Given the description of an element on the screen output the (x, y) to click on. 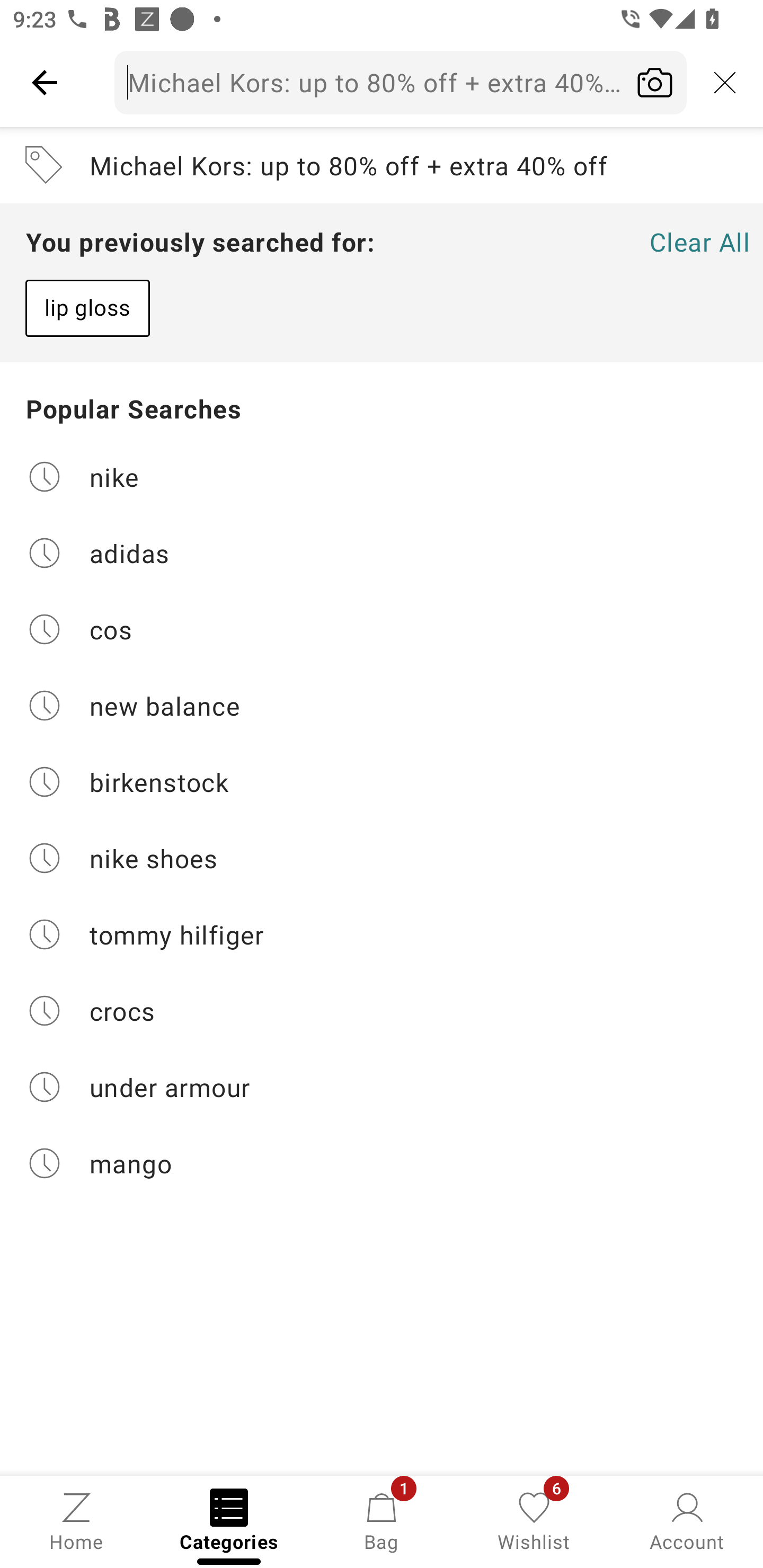
Navigate up (44, 82)
Michael Kors: up to 80% off + extra 40% off (400, 82)
Michael Kors: up to 80% off + extra 40% off (381, 165)
Clear All (699, 241)
lip gloss (87, 308)
nike (381, 476)
adidas (381, 552)
cos (381, 629)
new balance (381, 705)
birkenstock (381, 781)
nike shoes (381, 858)
tommy hilfiger (381, 934)
crocs (381, 1010)
under armour (381, 1086)
mango (381, 1163)
Home (76, 1519)
Bag, 1 new notification Bag (381, 1519)
Wishlist, 6 new notifications Wishlist (533, 1519)
Account (686, 1519)
